Given the description of an element on the screen output the (x, y) to click on. 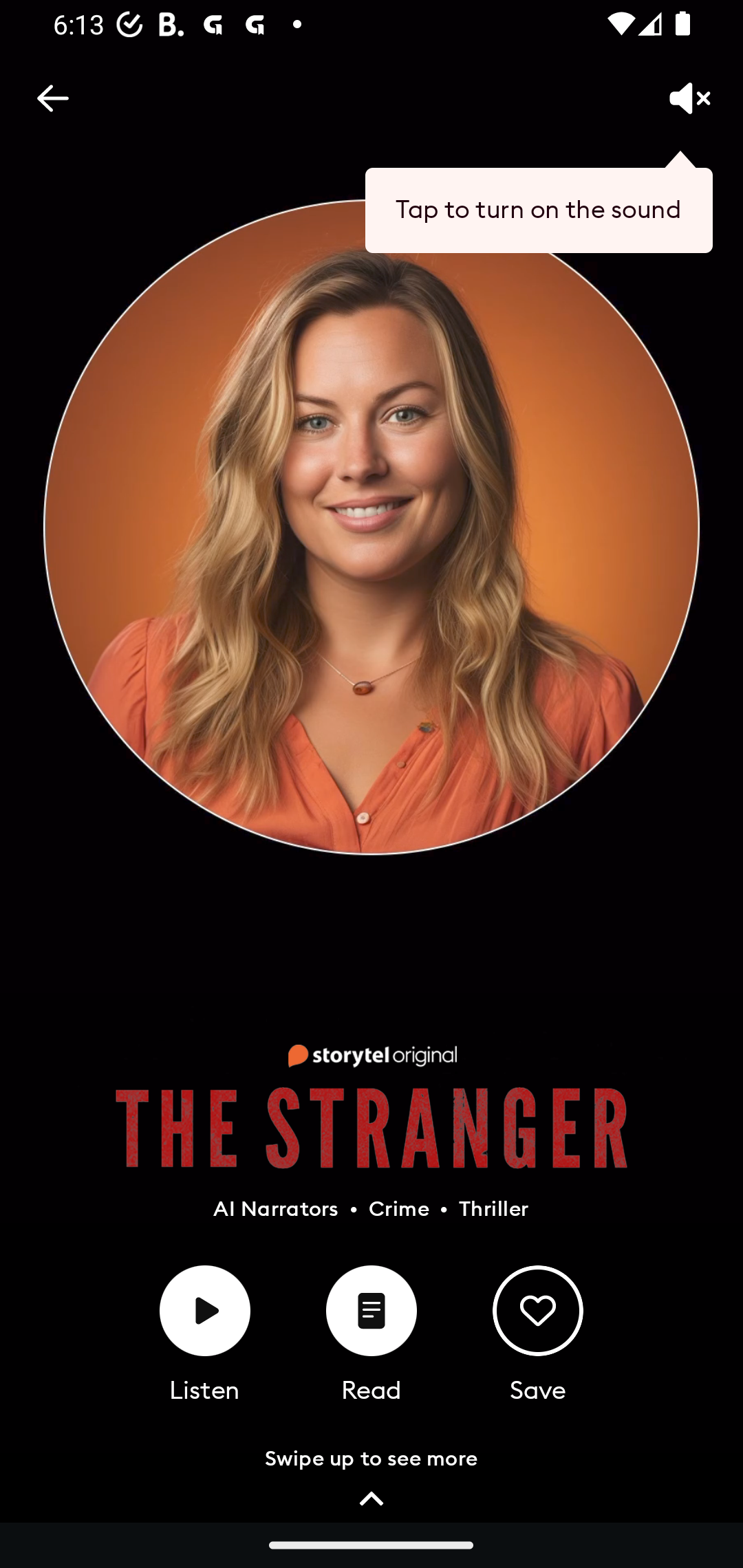
Back (52, 98)
Listen to book (204, 1310)
Read book (371, 1310)
Go to book details (371, 1500)
